Given the description of an element on the screen output the (x, y) to click on. 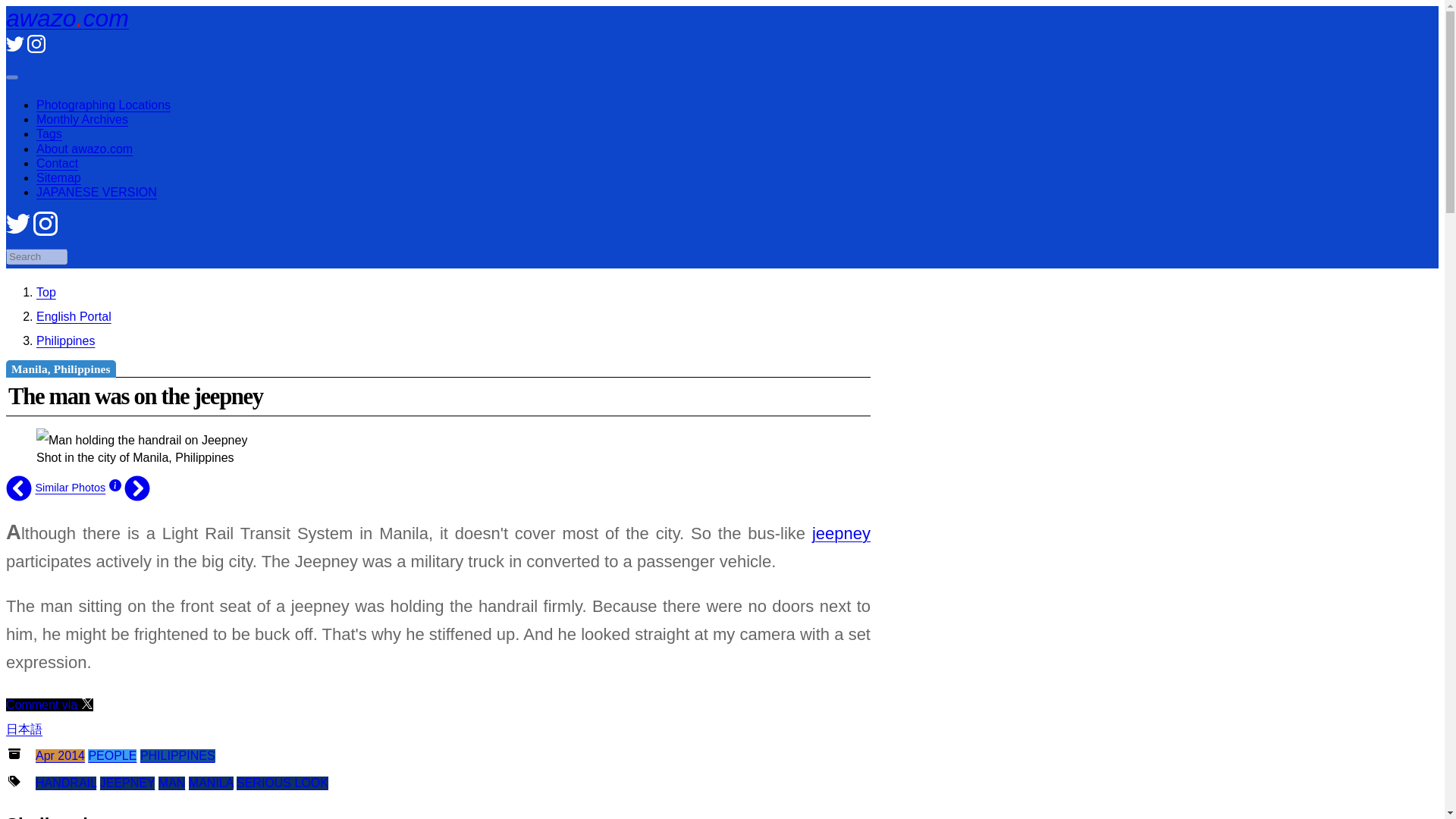
Philippines (65, 340)
MONTHLY ARCHIVE of April 2014 (59, 755)
CATEGORY ARCHIVE of PHILIPPINES (177, 755)
Photographing Locations (103, 104)
Photos Tagged with SERIOUS LOOK (282, 782)
Tags (49, 133)
CATEGORY ARCHIVE of PEOPLE (111, 755)
Photos Tagged with JEEPNEY (127, 782)
JAPANESE VERSION (96, 192)
Photos Tagged with MAN (172, 782)
